Given the description of an element on the screen output the (x, y) to click on. 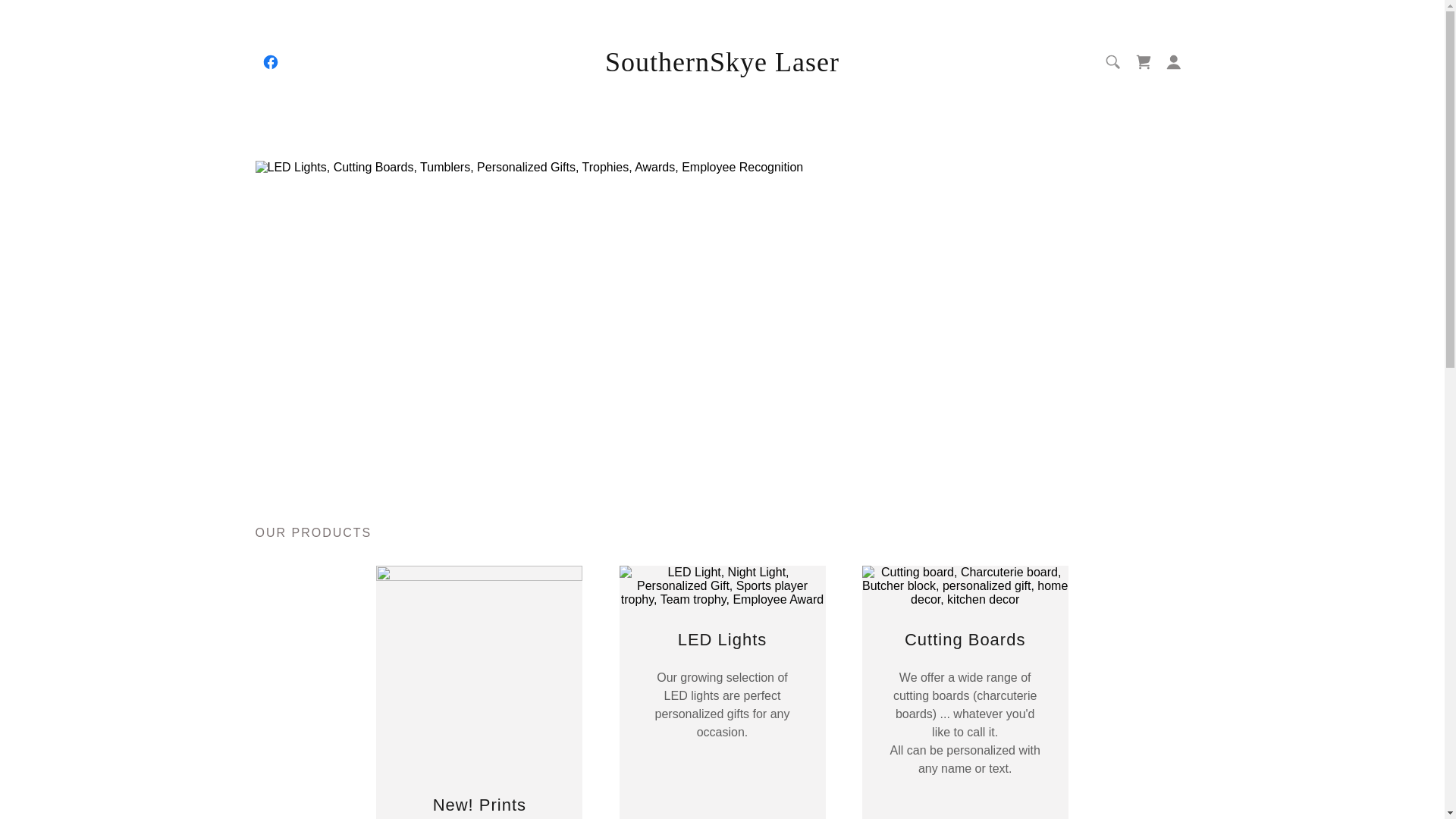
SouthernSkye Laser (721, 66)
SouthernSkye Laser (721, 66)
